Given the description of an element on the screen output the (x, y) to click on. 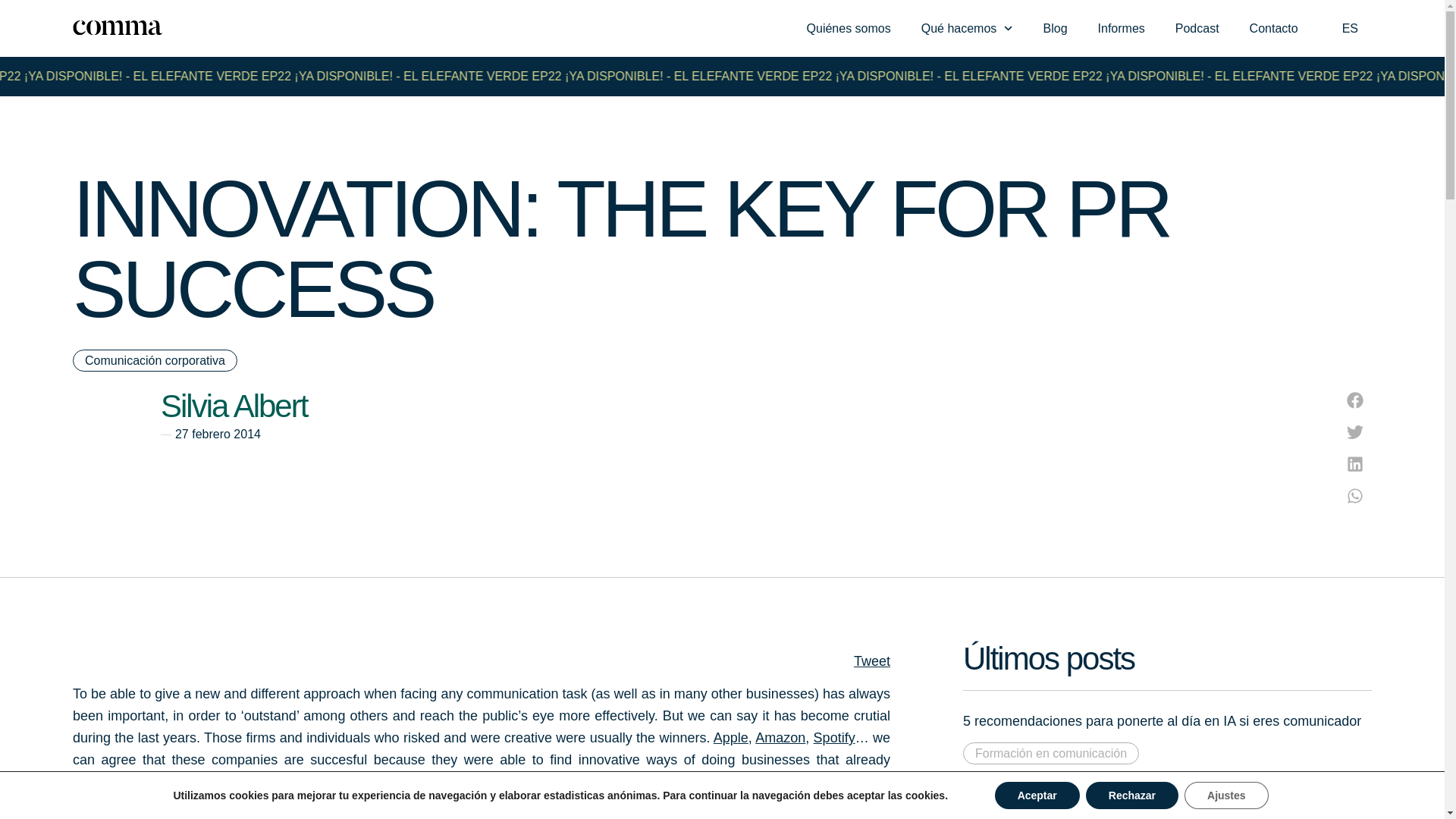
ES (1350, 28)
Podcast (1197, 28)
Spotify (834, 737)
Spotify (834, 737)
Blog (1055, 28)
Contacto (1273, 28)
Informes (1121, 28)
Apple: a fruit that has now other meaning (730, 737)
Amazon (780, 737)
Amazon (780, 737)
Tweet (871, 661)
Apple (730, 737)
